Given the description of an element on the screen output the (x, y) to click on. 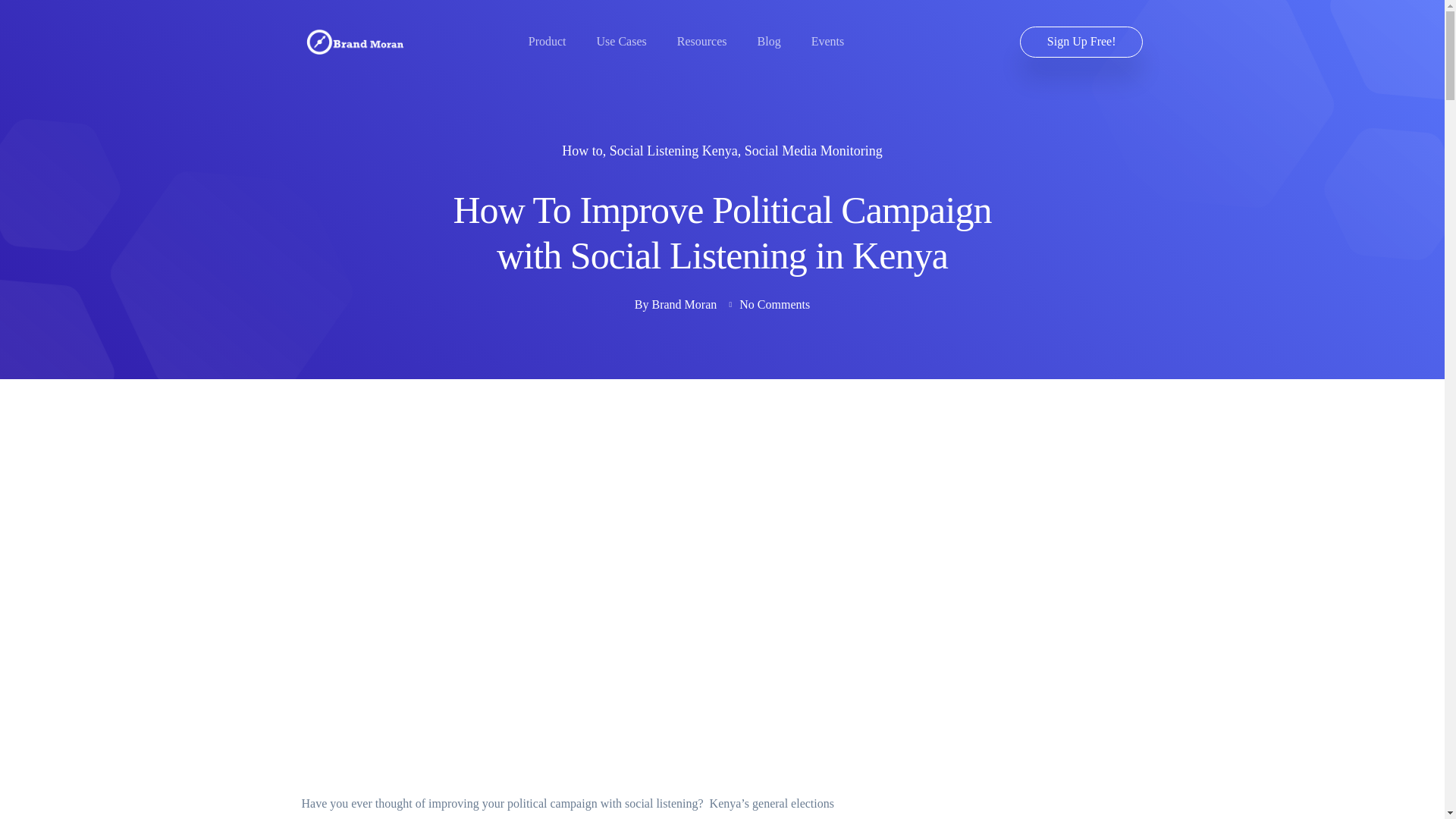
Events (827, 41)
Use Cases (621, 41)
Product (547, 41)
Brand Moran (684, 304)
Resources (701, 41)
No Comments (774, 304)
How to (582, 151)
Sign Up Free! (1081, 40)
Blog (768, 41)
Social Media Monitoring (813, 151)
